Given the description of an element on the screen output the (x, y) to click on. 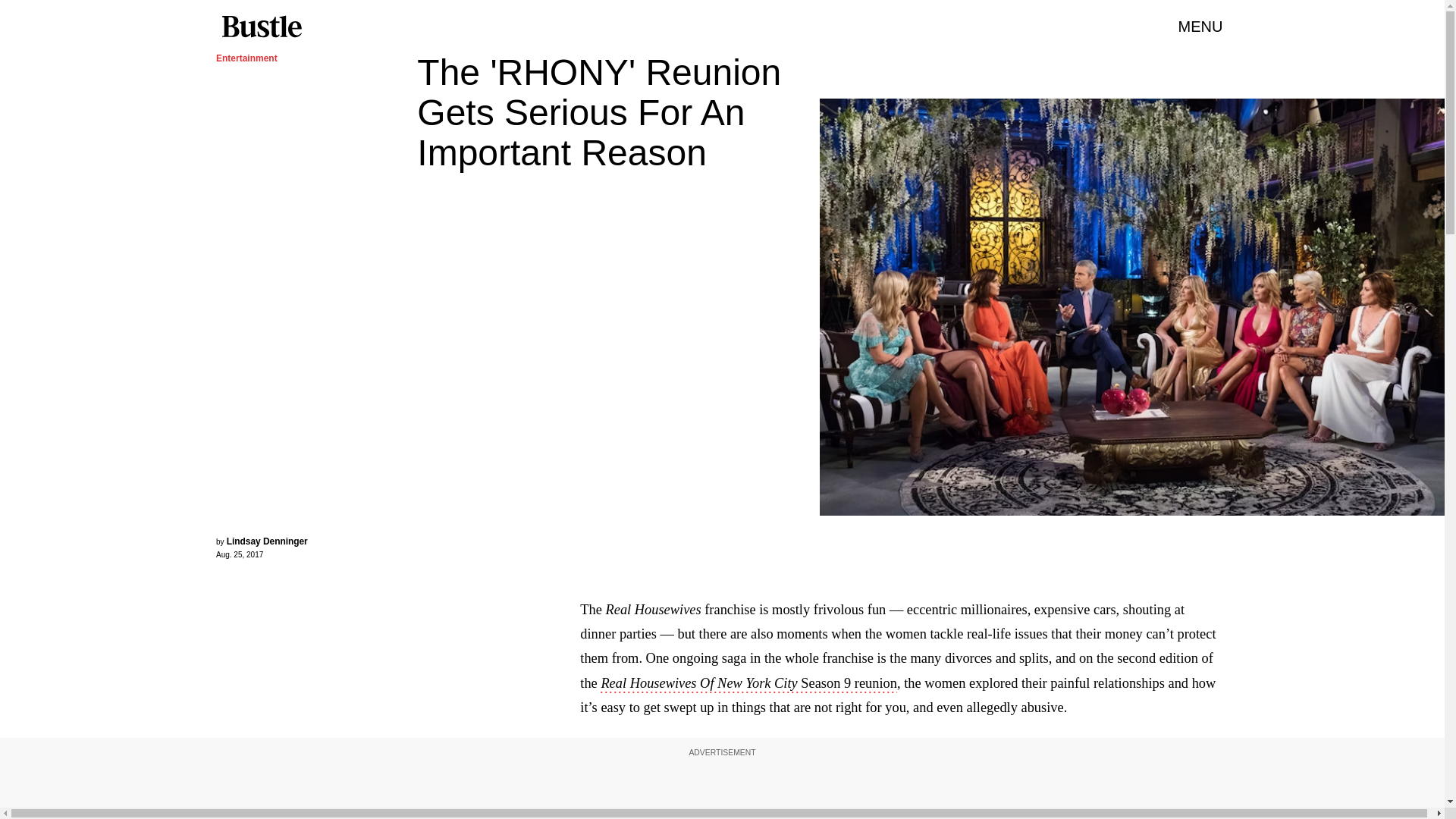
Lindsay Denninger (267, 541)
Real Housewives Of New York City Season 9 reunion (747, 684)
Bustle (261, 26)
